Given the description of an element on the screen output the (x, y) to click on. 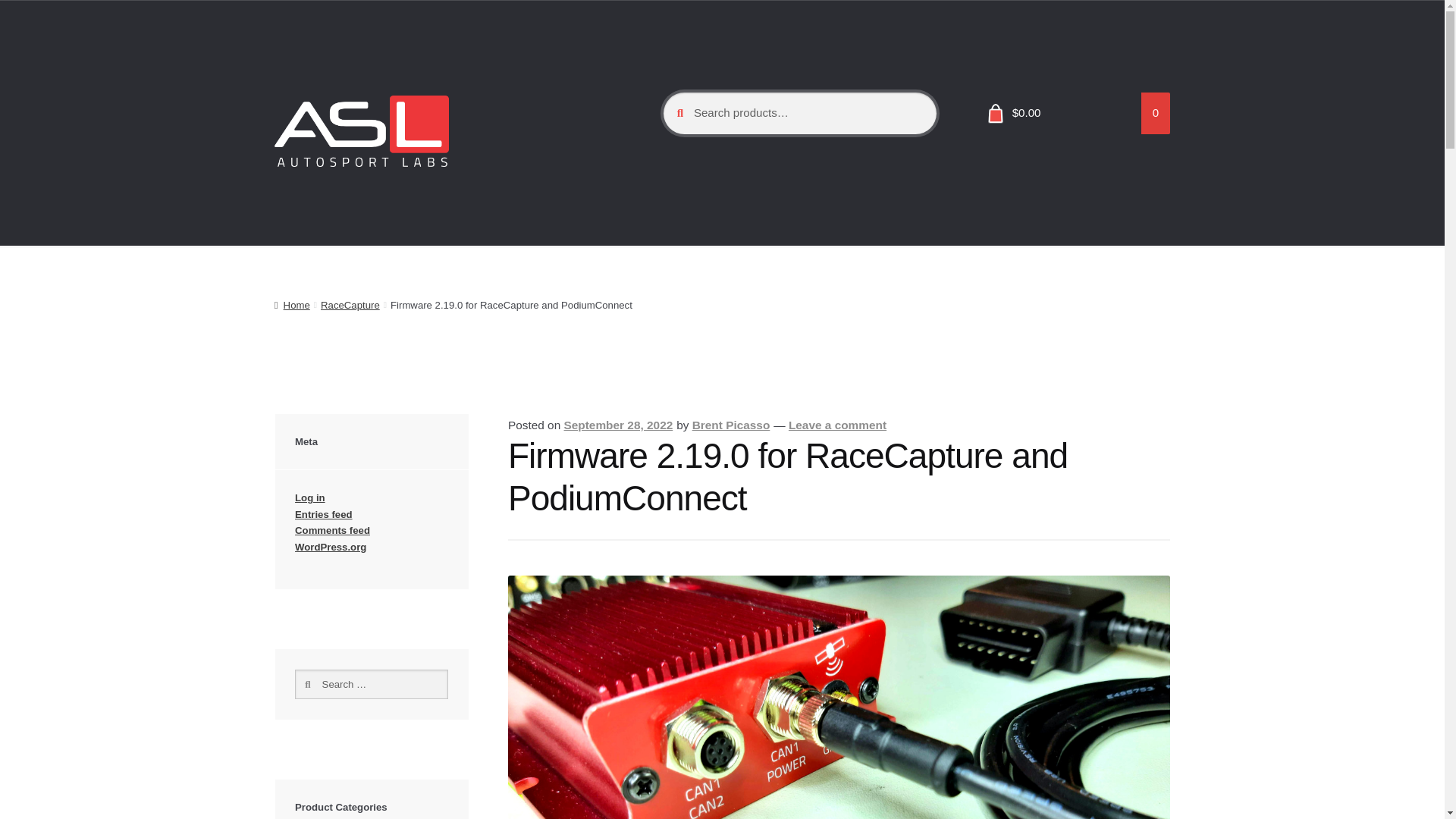
View your shopping cart (1072, 113)
